Given the description of an element on the screen output the (x, y) to click on. 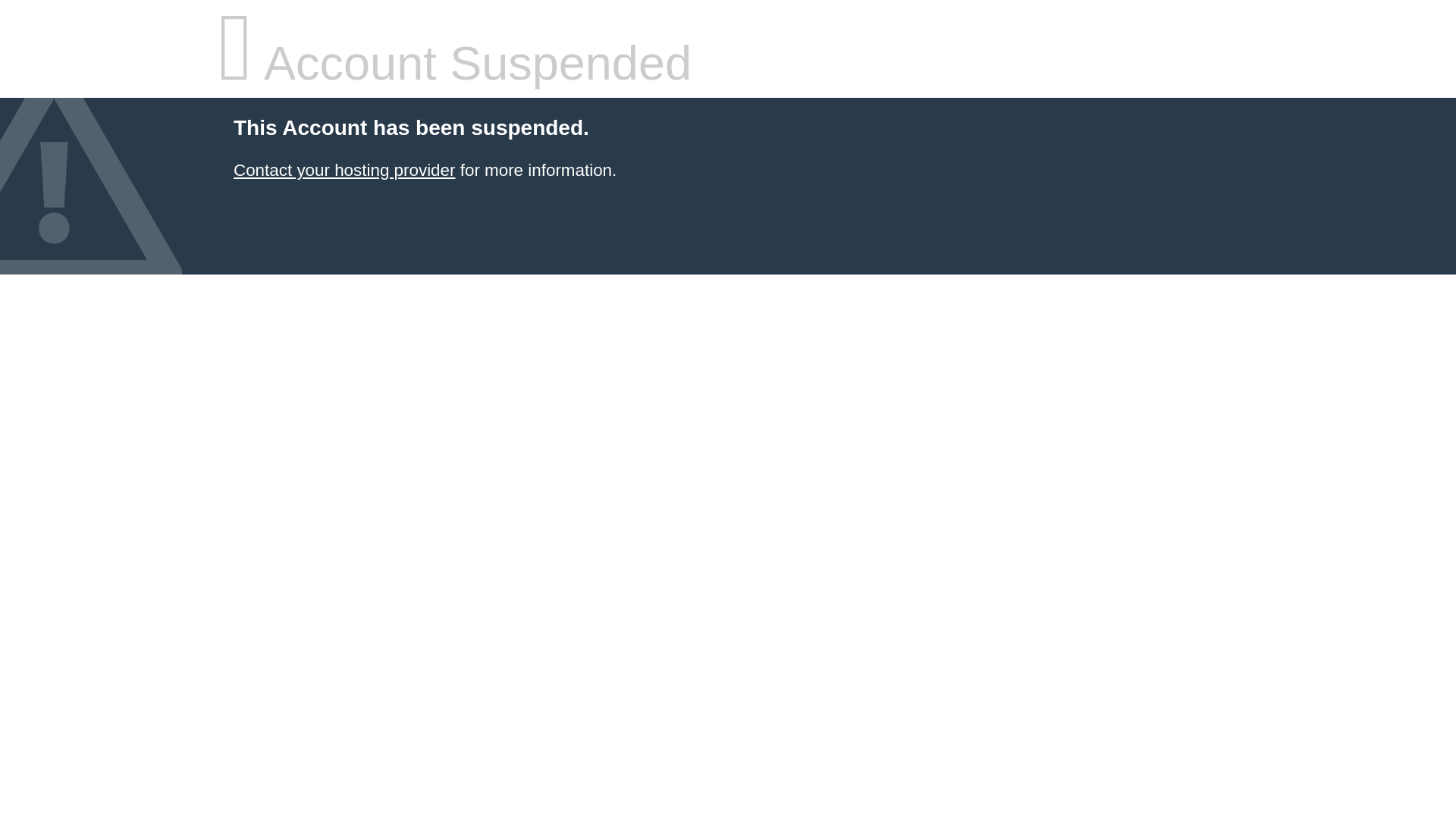
Contact your hosting provider (343, 169)
